Given the description of an element on the screen output the (x, y) to click on. 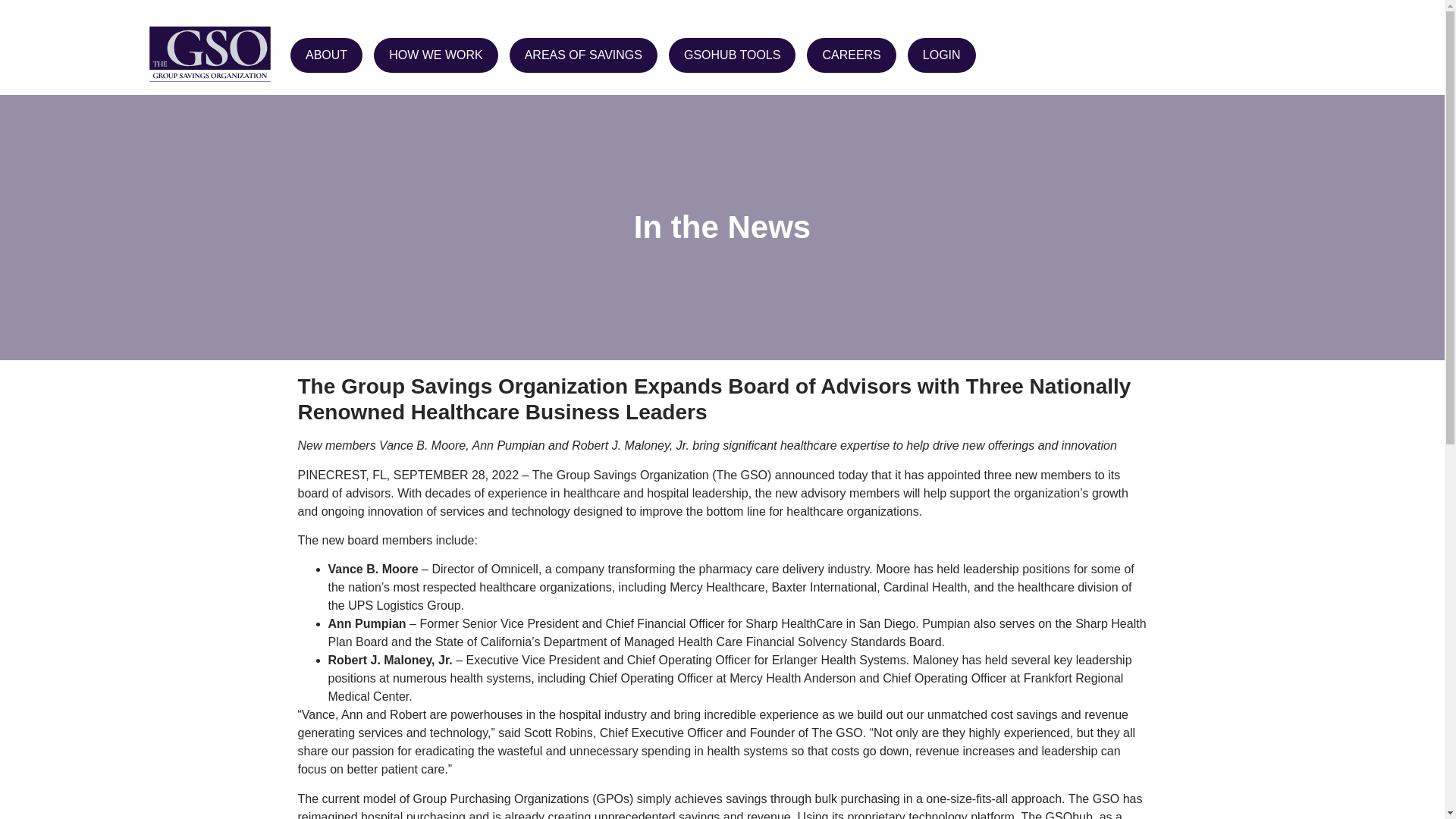
LOGIN (941, 54)
CAREERS (850, 54)
AREAS OF SAVINGS (583, 54)
ABOUT (325, 54)
HOW WE WORK (435, 54)
GSOHUB TOOLS (731, 54)
